Given the description of an element on the screen output the (x, y) to click on. 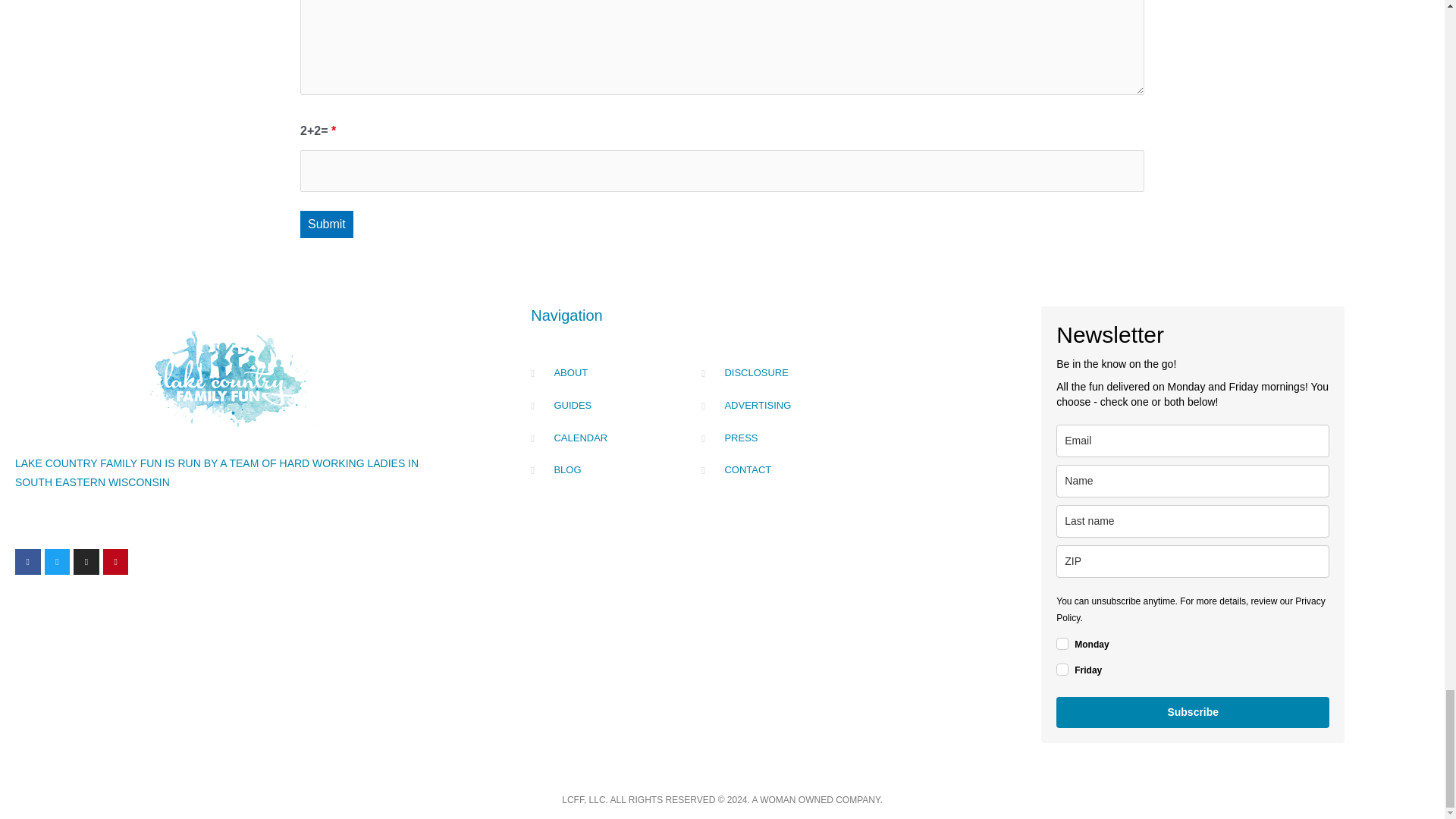
Submit (326, 224)
